Given the description of an element on the screen output the (x, y) to click on. 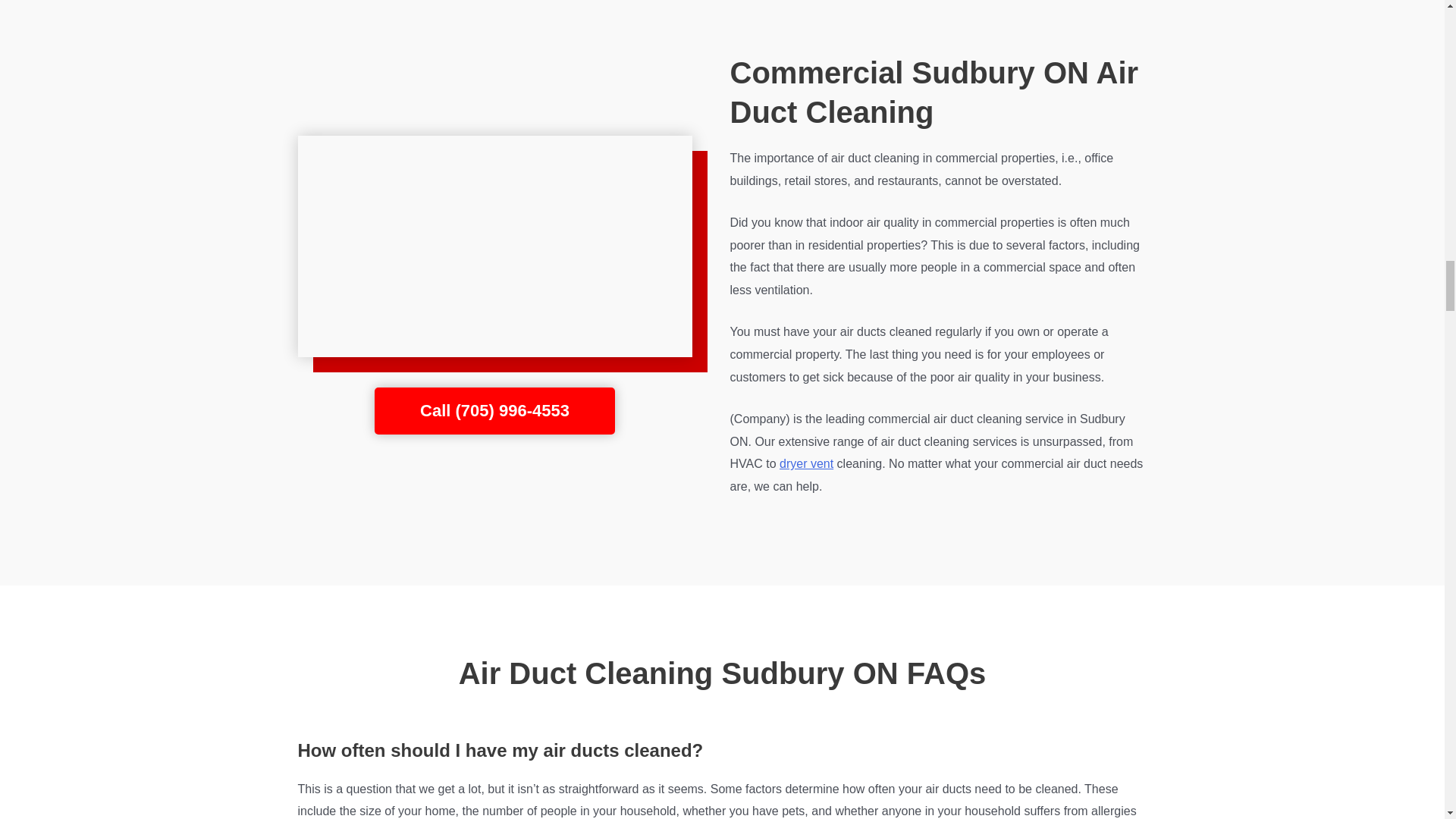
dryer vent (805, 463)
